Given the description of an element on the screen output the (x, y) to click on. 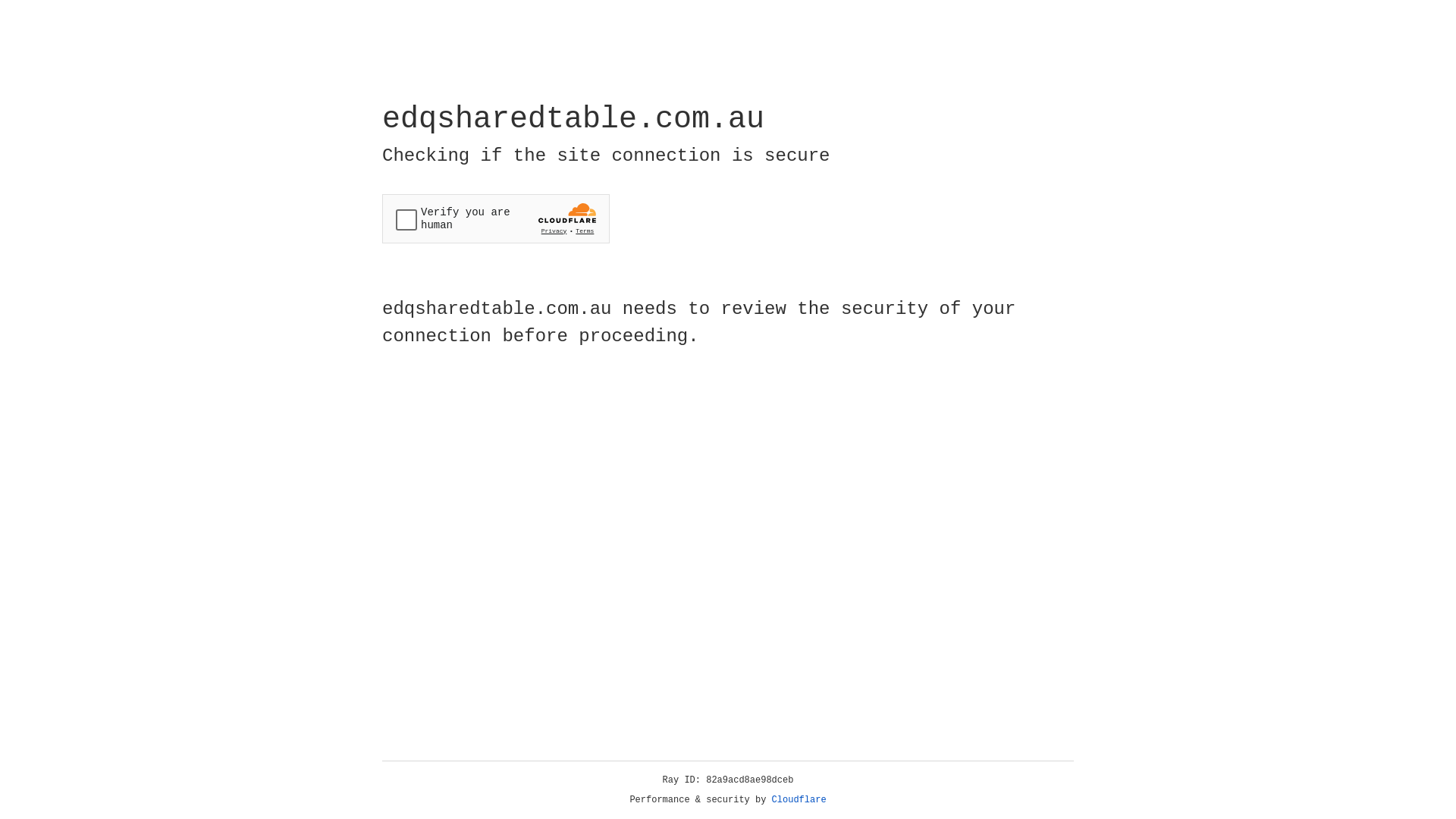
Widget containing a Cloudflare security challenge Element type: hover (495, 218)
Cloudflare Element type: text (798, 799)
